Given the description of an element on the screen output the (x, y) to click on. 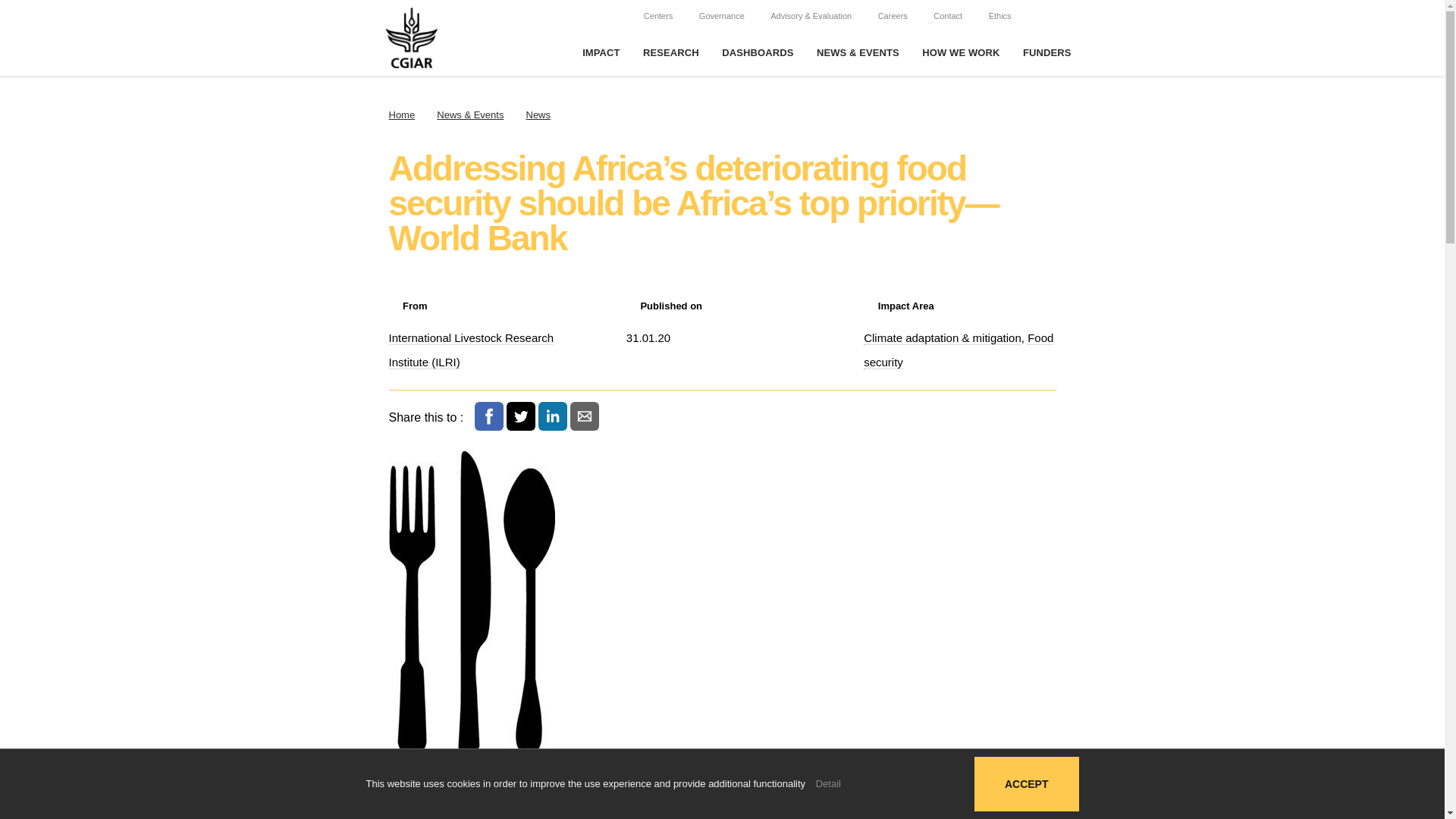
RESEARCH (670, 53)
